Given the description of an element on the screen output the (x, y) to click on. 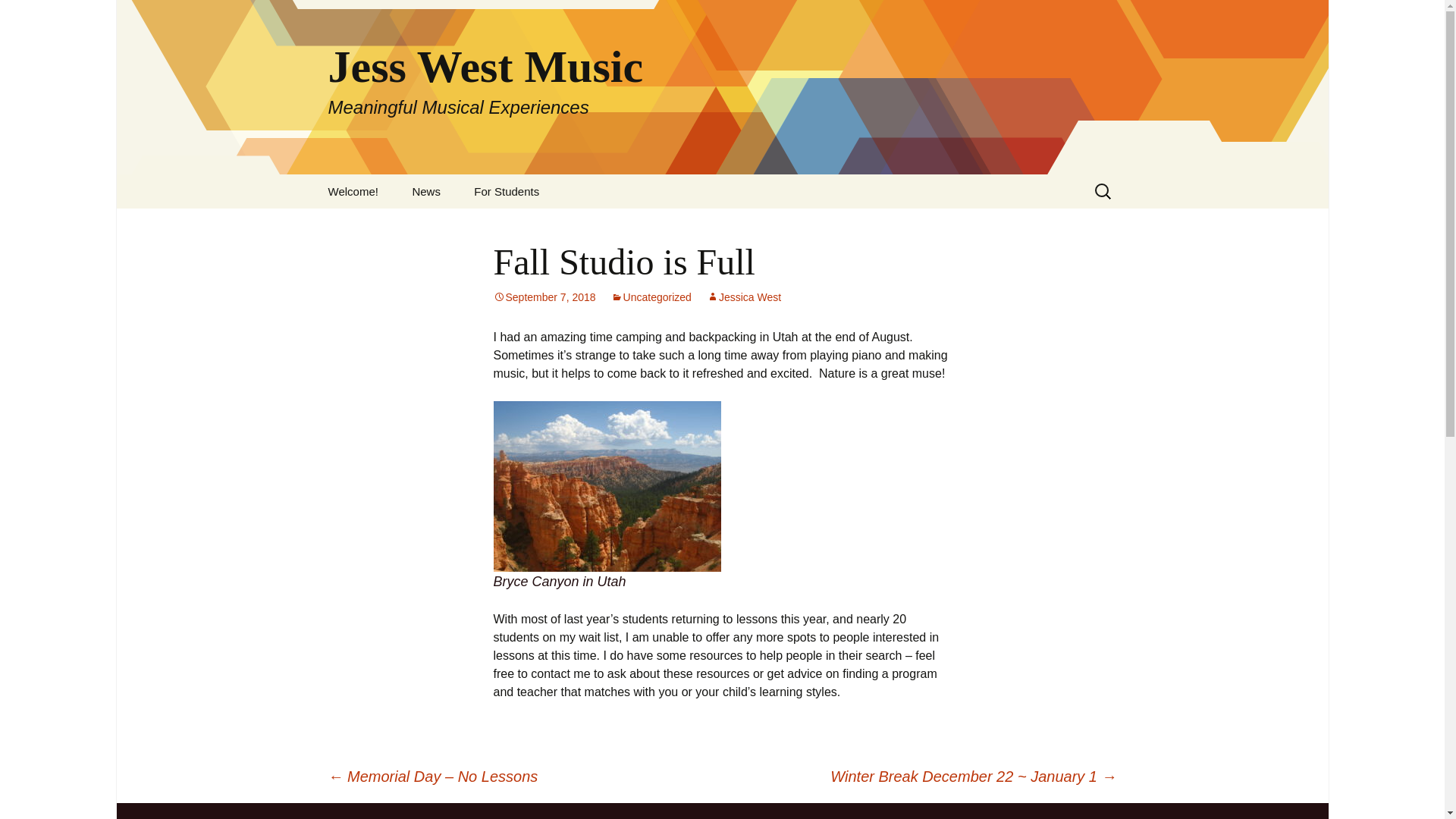
2020 Spring Spectacular (534, 230)
September 7, 2018 (544, 297)
Permalink to Fall Studio is Full (544, 297)
Welcome! (353, 191)
View all posts by Jessica West (651, 297)
Search (743, 297)
Skip to content (34, 15)
Jess West Music (18, 15)
News (743, 297)
For Students (425, 191)
